Given the description of an element on the screen output the (x, y) to click on. 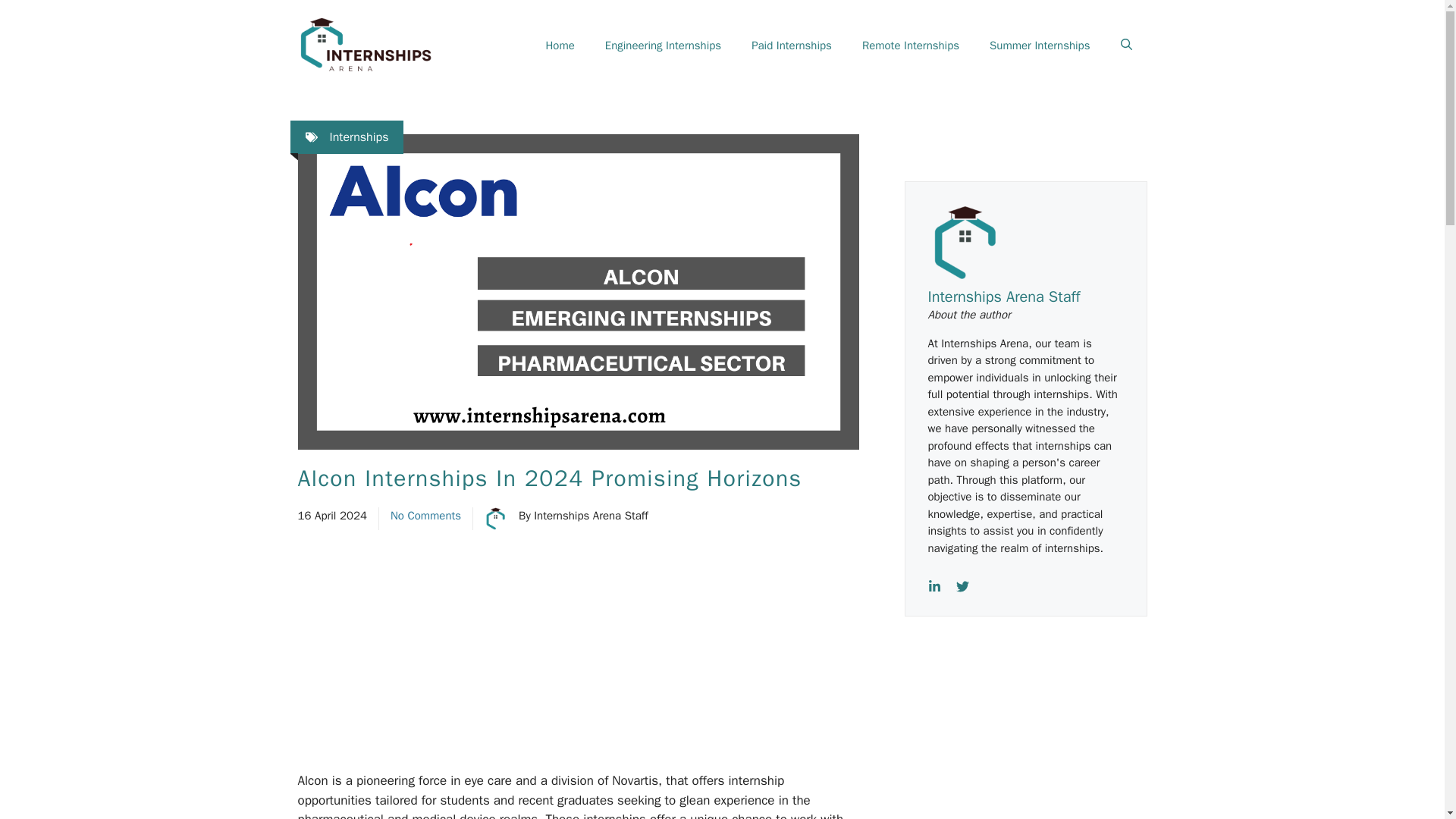
Home (559, 44)
Engineering Internships (662, 44)
No Comments (425, 515)
Summer Internships (1039, 44)
Paid Internships (791, 44)
Advertisement (611, 658)
Remote Internships (910, 44)
Advertisement (1036, 740)
Internships (358, 136)
